Given the description of an element on the screen output the (x, y) to click on. 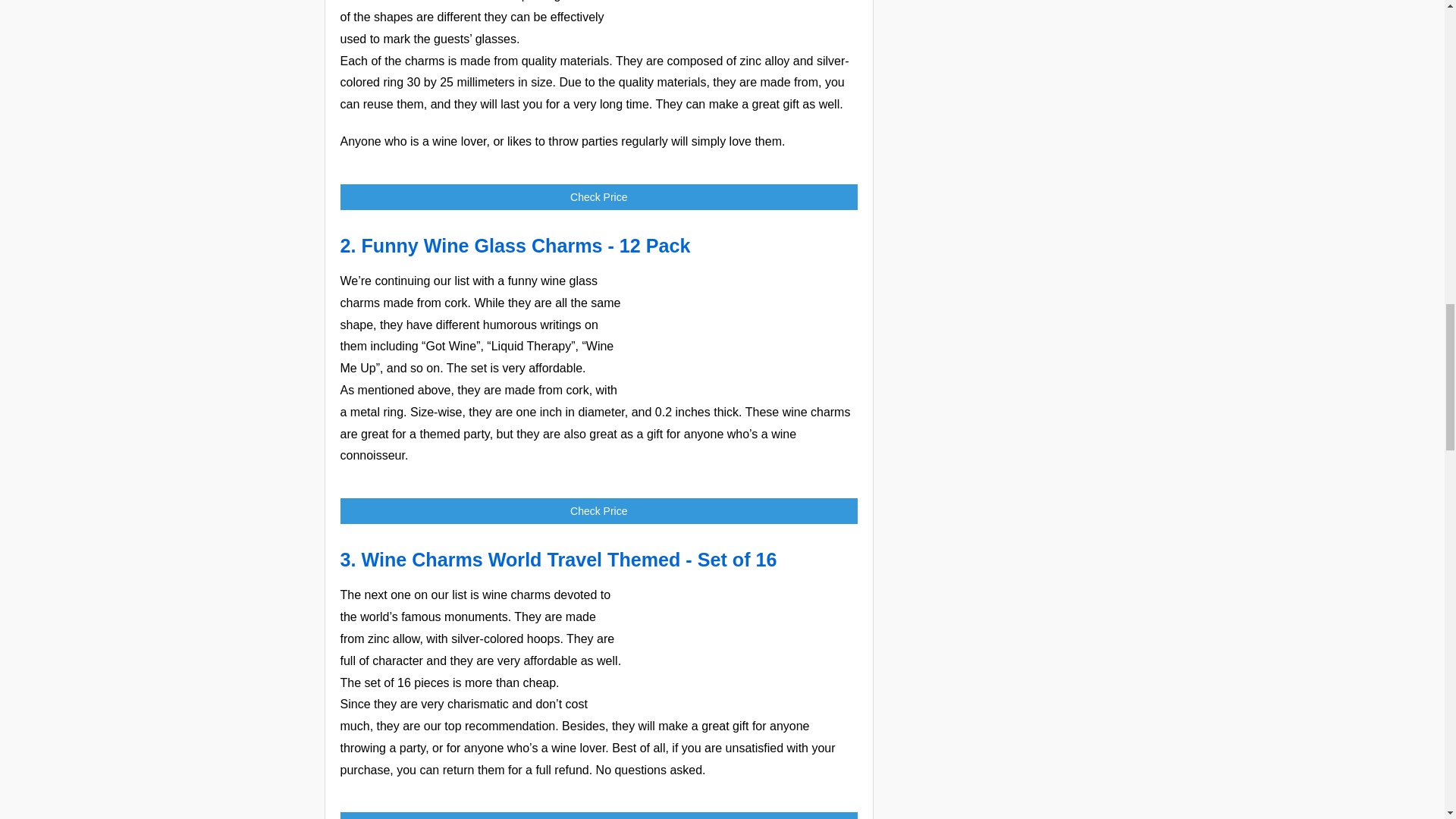
Check Price (598, 815)
Funny Wine Glass Charms - 12 Pack (525, 245)
Wine Charms World Travel Themed - Set of 16 (568, 559)
Beach Themed Wine Charms - 10 Pieces (743, 16)
Check Price (598, 196)
Check Price (598, 510)
Funny Wine Glass Charms - 12 Pack (743, 327)
Funny Wine Glass Charms - 12 Pack (525, 245)
Check Price (598, 815)
Check Price (598, 510)
Wine Charms World Travel Themed - Set of 16 (743, 641)
Wine Charms World Travel Themed - Set of 16 (568, 559)
Check Price (598, 196)
